Given the description of an element on the screen output the (x, y) to click on. 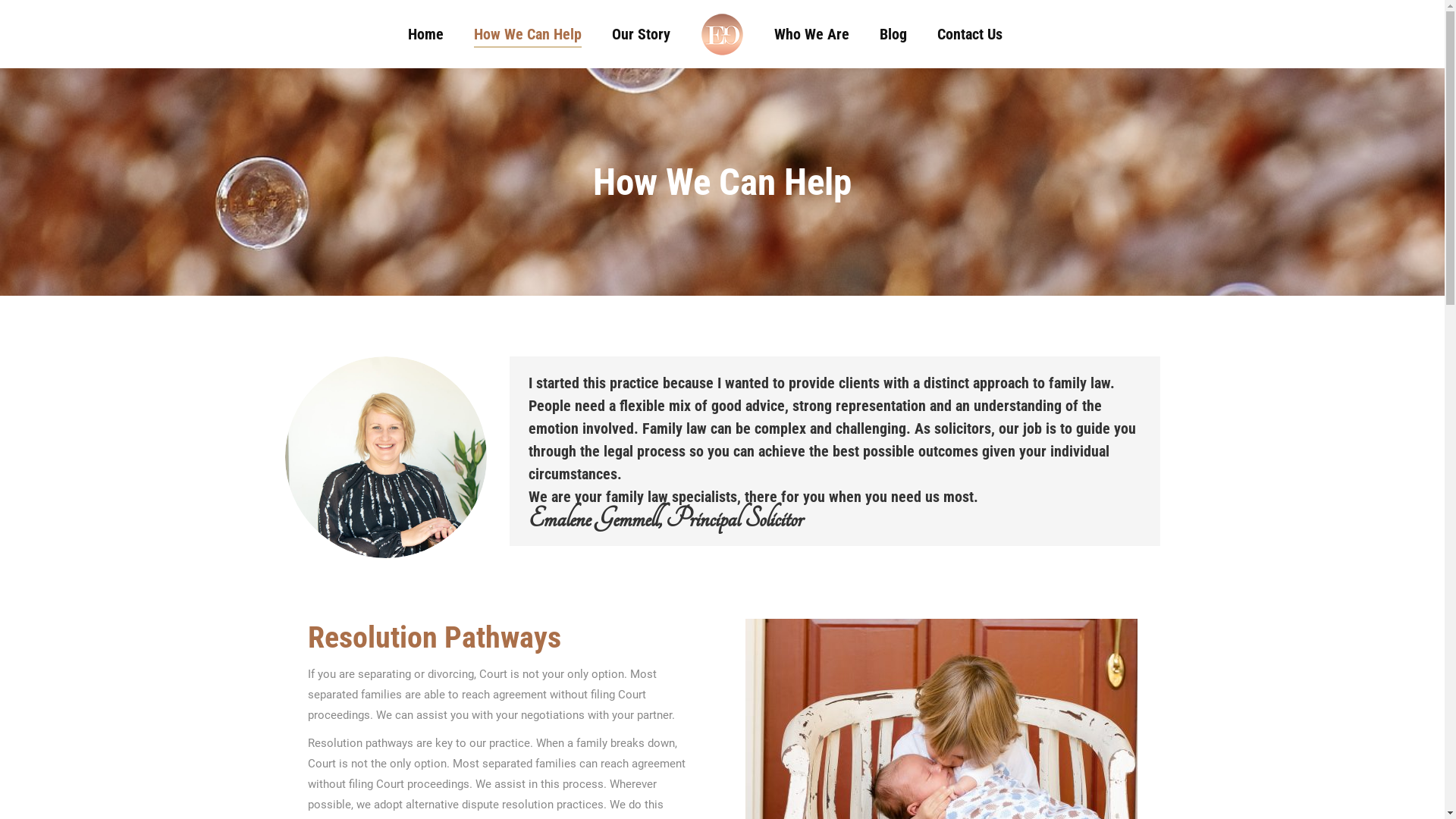
Who We Are Element type: text (811, 33)
Contact Us Element type: text (969, 33)
Our Story Element type: text (640, 33)
How We Can Help Element type: text (527, 33)
Blog Element type: text (892, 33)
Home Element type: text (425, 33)
